Given the description of an element on the screen output the (x, y) to click on. 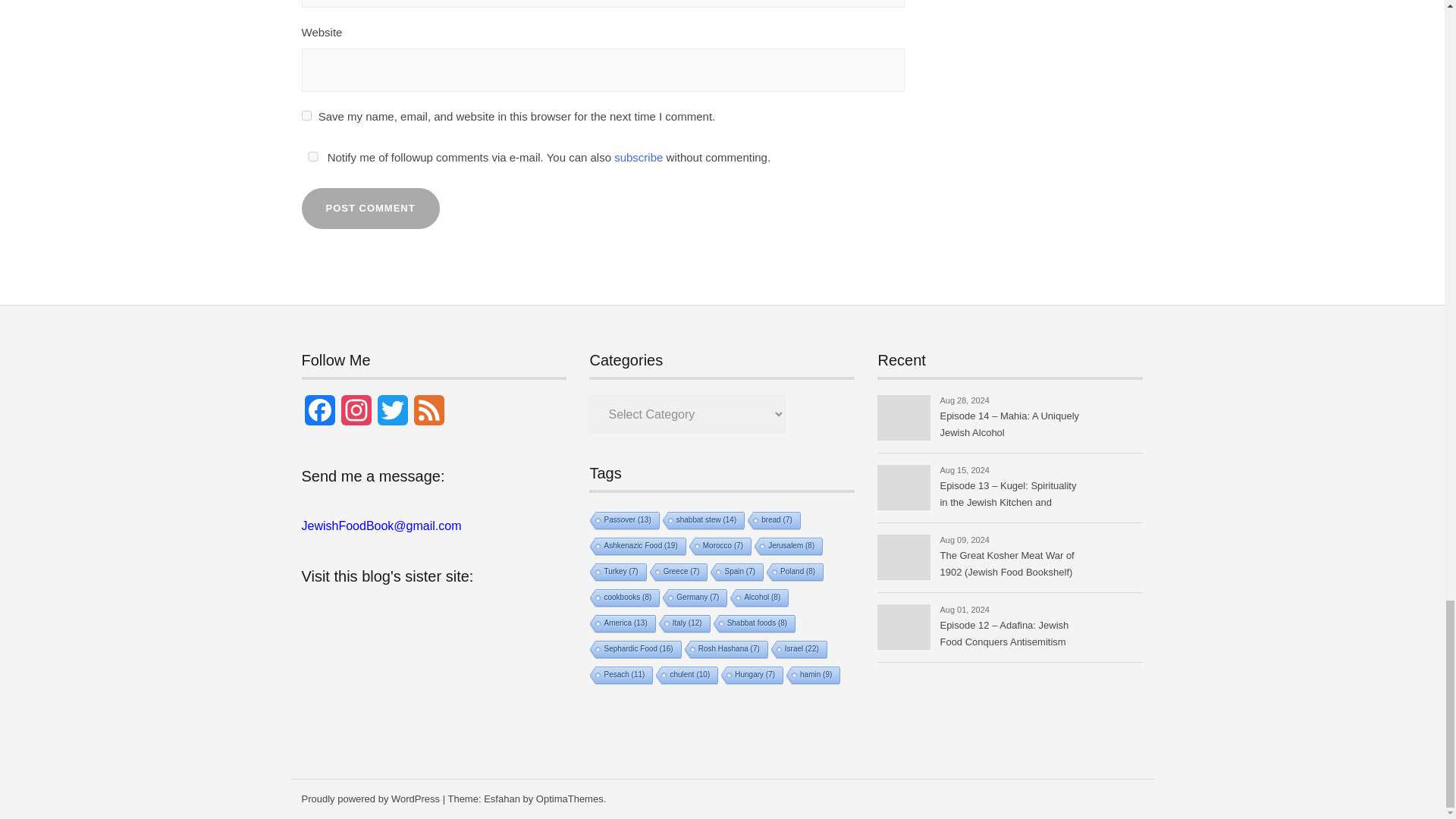
yes (306, 115)
yes (312, 156)
Post Comment (370, 208)
